Given the description of an element on the screen output the (x, y) to click on. 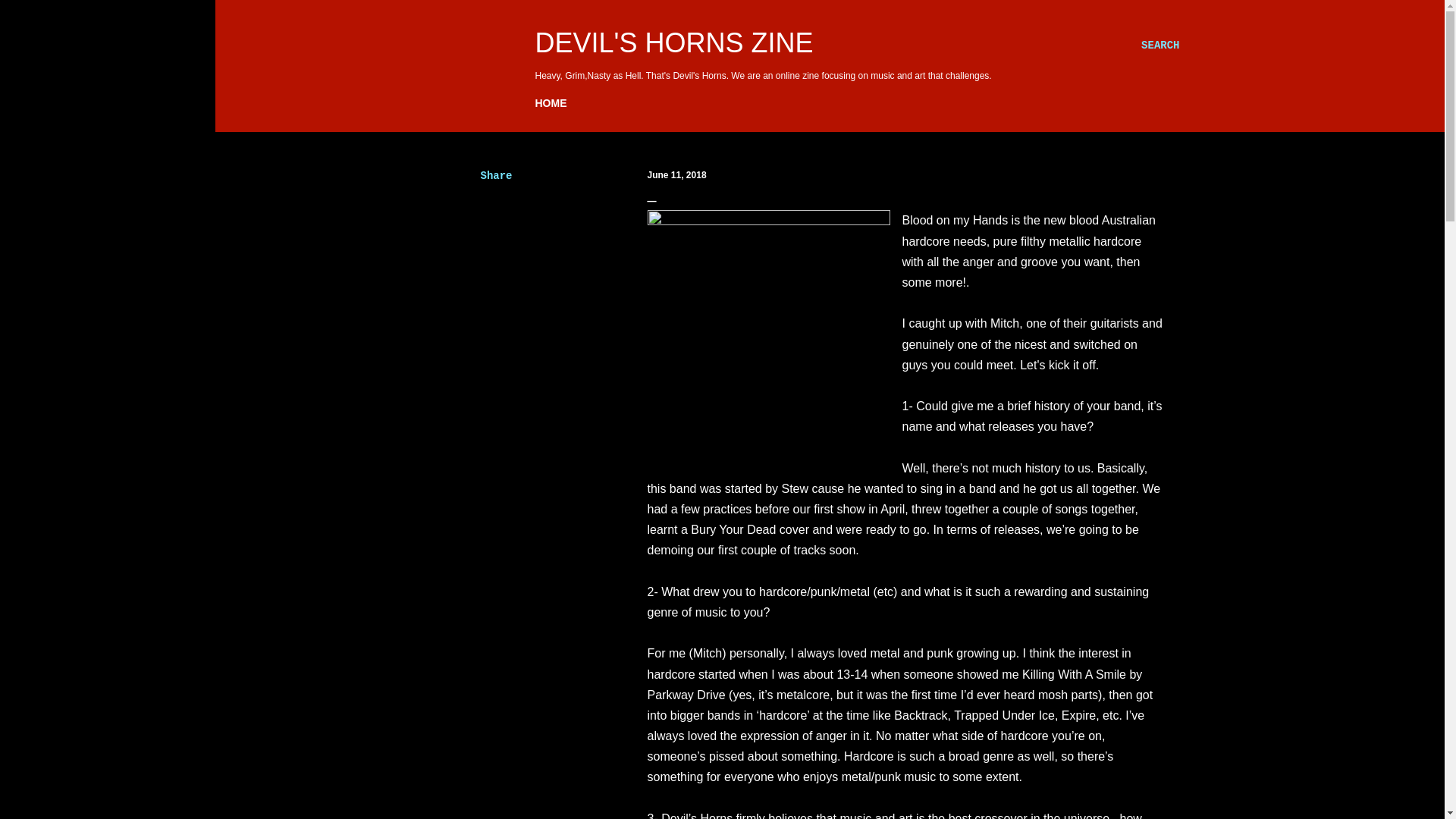
permanent link (676, 174)
Share (496, 175)
HOME (551, 102)
June 11, 2018 (676, 174)
DEVIL'S HORNS ZINE (674, 42)
SEARCH (1160, 45)
